Given the description of an element on the screen output the (x, y) to click on. 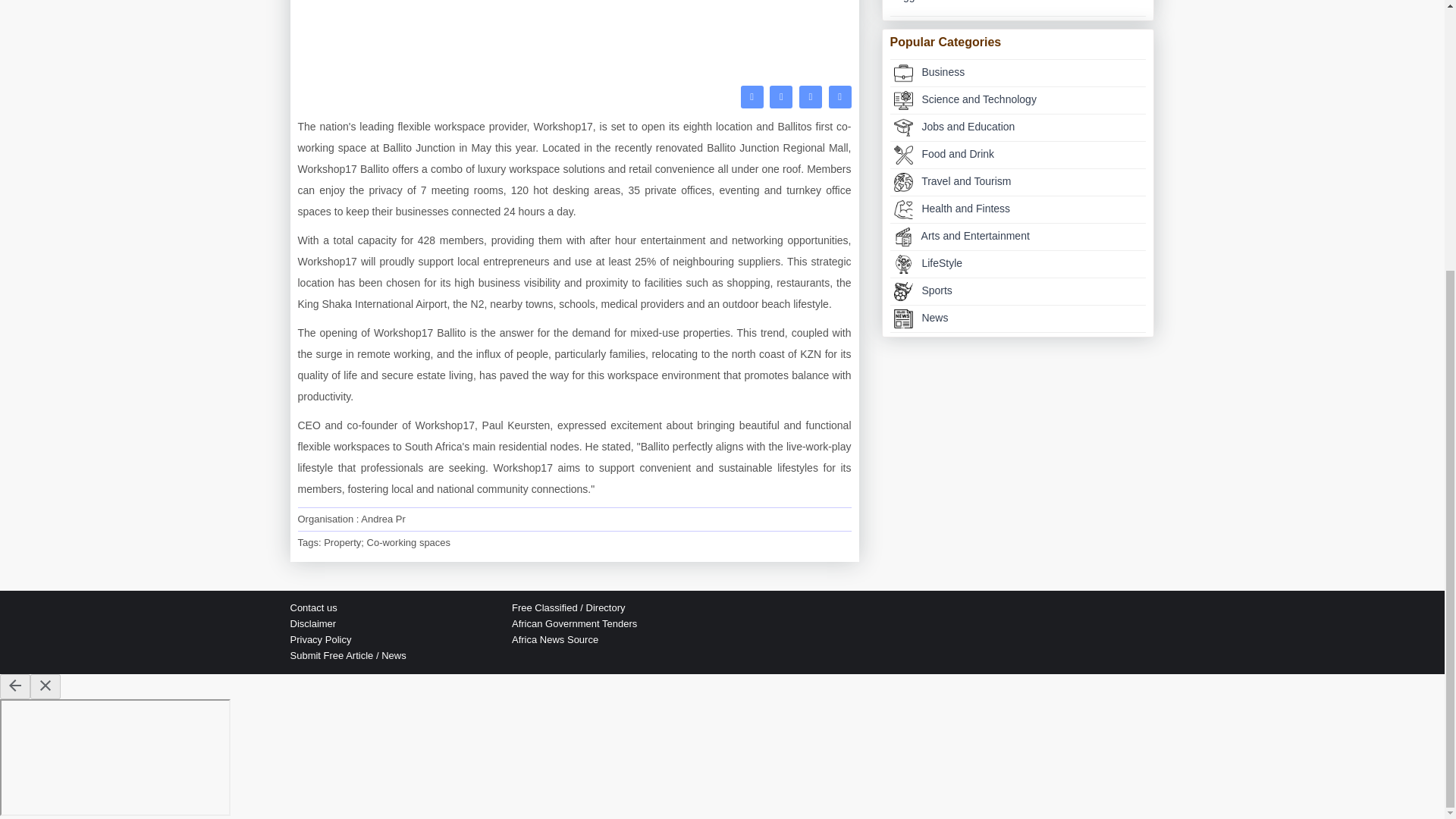
Business (1018, 72)
Food and Drink (902, 154)
Jobs and Education (902, 127)
Food and Drink (1018, 154)
Health and Fintess (902, 209)
Arts and Entertainment (902, 236)
Arts and Entertainment (1018, 236)
Science and Technology (902, 99)
Travel and Tourism (1018, 182)
LifeStyle (902, 263)
Disclaimer (312, 623)
Travel and Tourism (902, 181)
Business (902, 72)
Science and Technology (1018, 100)
Africa News Source (555, 639)
